Given the description of an element on the screen output the (x, y) to click on. 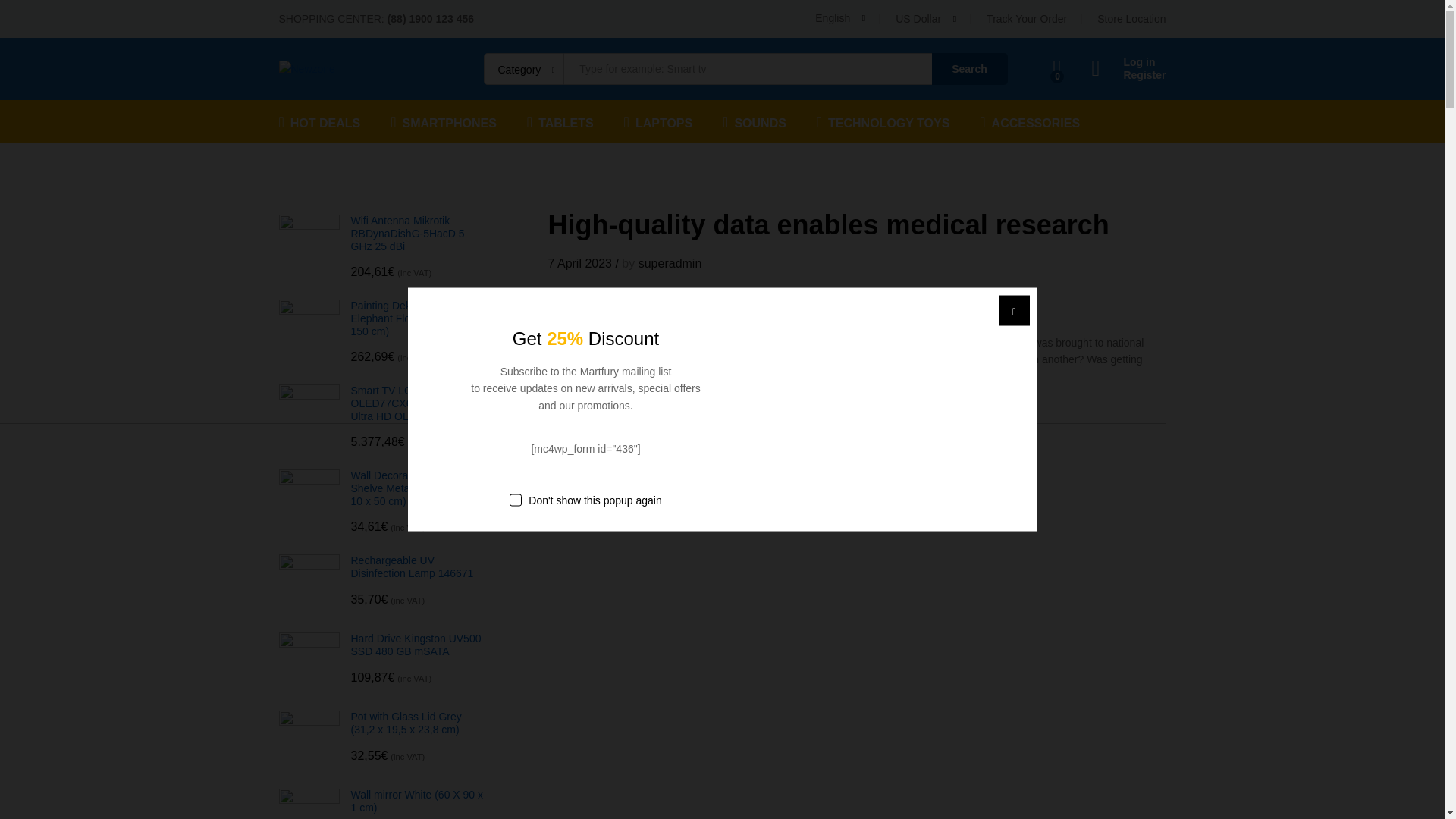
HOT DEALS (320, 121)
LAPTOPS (658, 121)
Log in (1128, 62)
European Euro (978, 83)
Register (1128, 74)
German (881, 85)
ACCESSORIES (1029, 121)
Track Your Order (1027, 19)
TECHNOLOGY TOYS (883, 121)
TABLETS (560, 121)
